Given the description of an element on the screen output the (x, y) to click on. 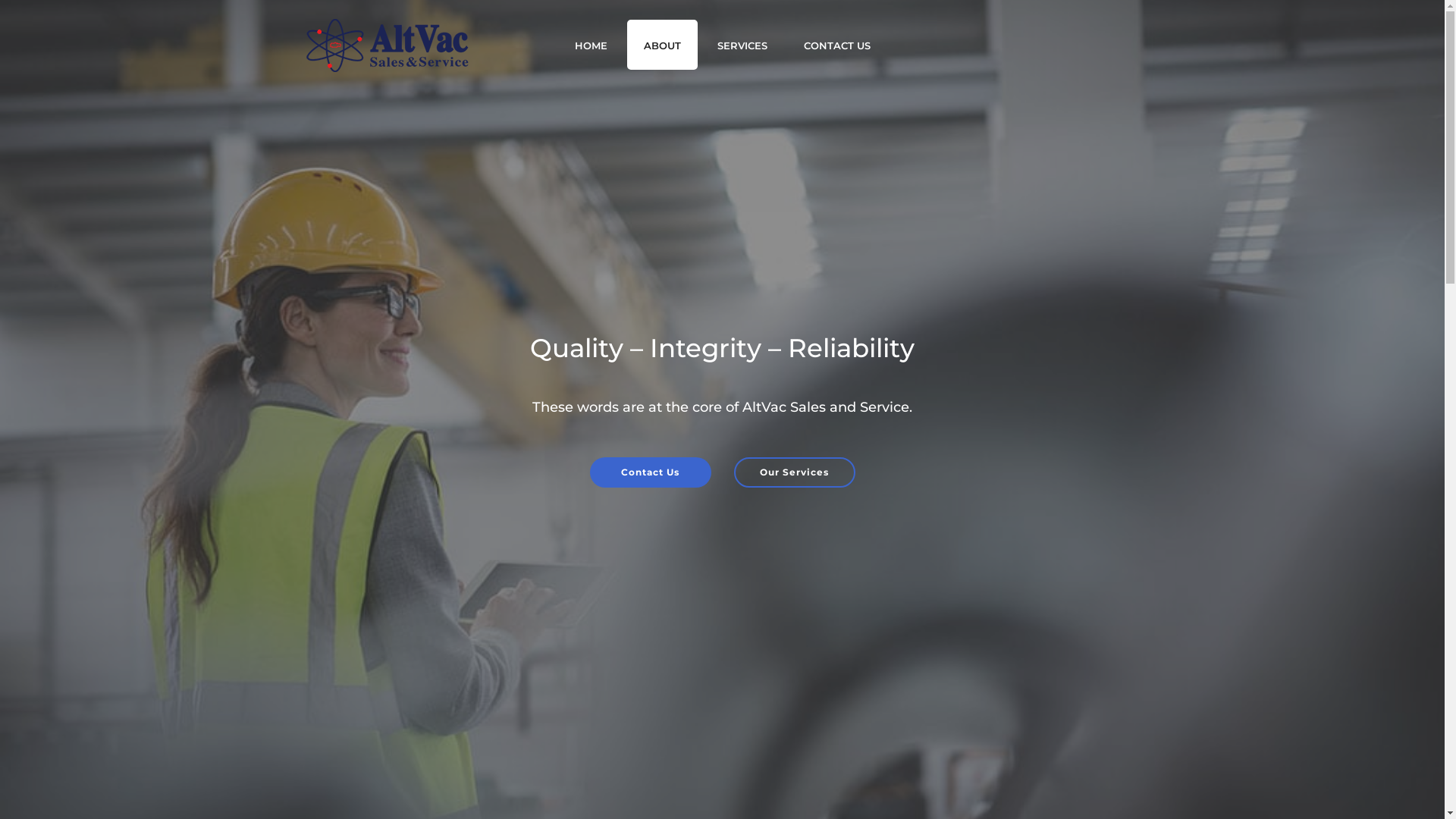
Our Services Element type: text (794, 472)
CONTACT US Element type: text (837, 44)
ABOUT Element type: text (661, 44)
HOME Element type: text (591, 44)
Contact Us Element type: text (650, 472)
SERVICES Element type: text (742, 44)
